Given the description of an element on the screen output the (x, y) to click on. 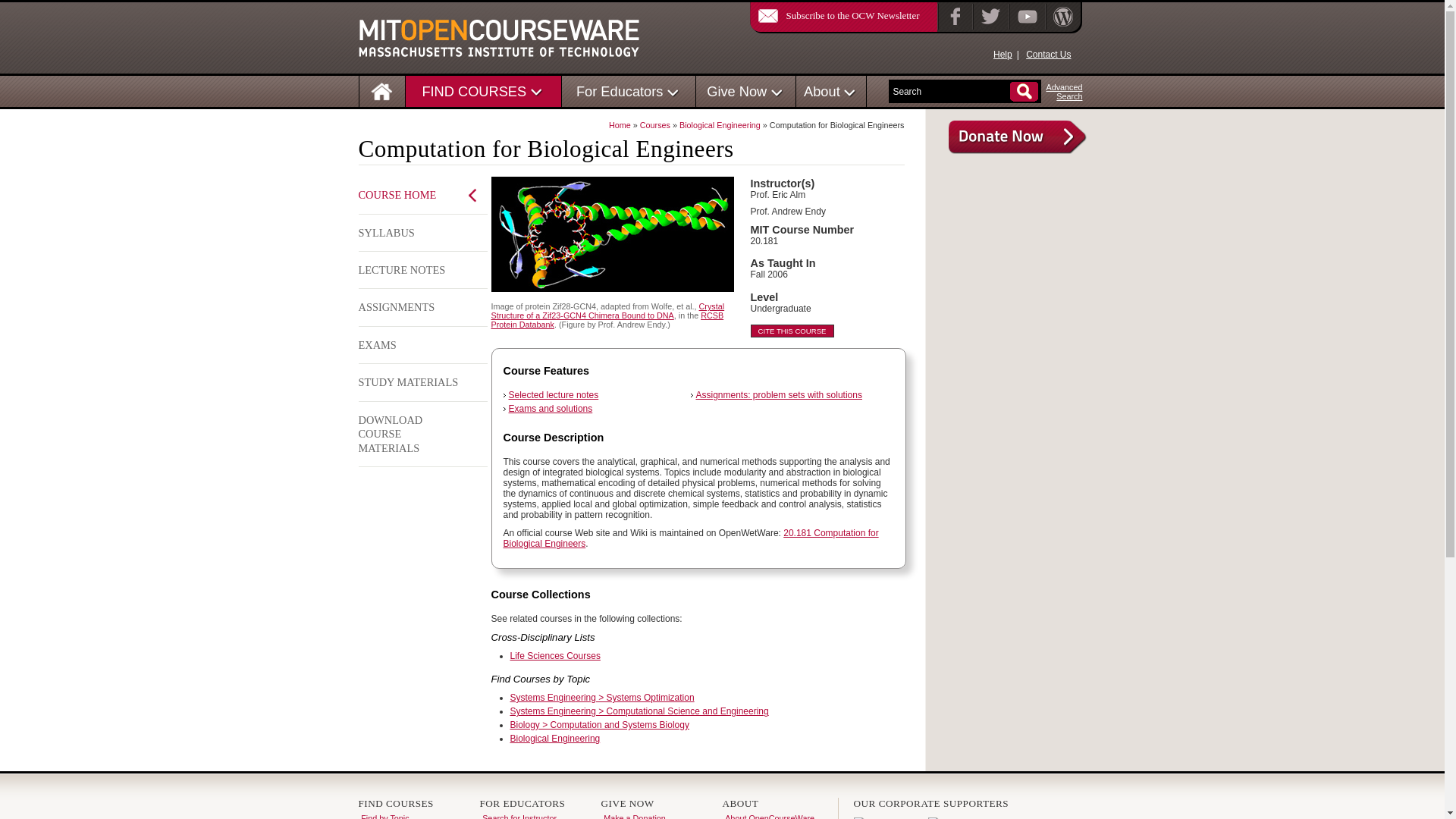
Search (951, 91)
Schematic of protein folding. (612, 233)
Contact Us (1048, 54)
Subscribe to the OCW Newsletter (833, 15)
FIND COURSES (473, 91)
For Educators (619, 91)
Help (1001, 54)
Search (951, 91)
